Given the description of an element on the screen output the (x, y) to click on. 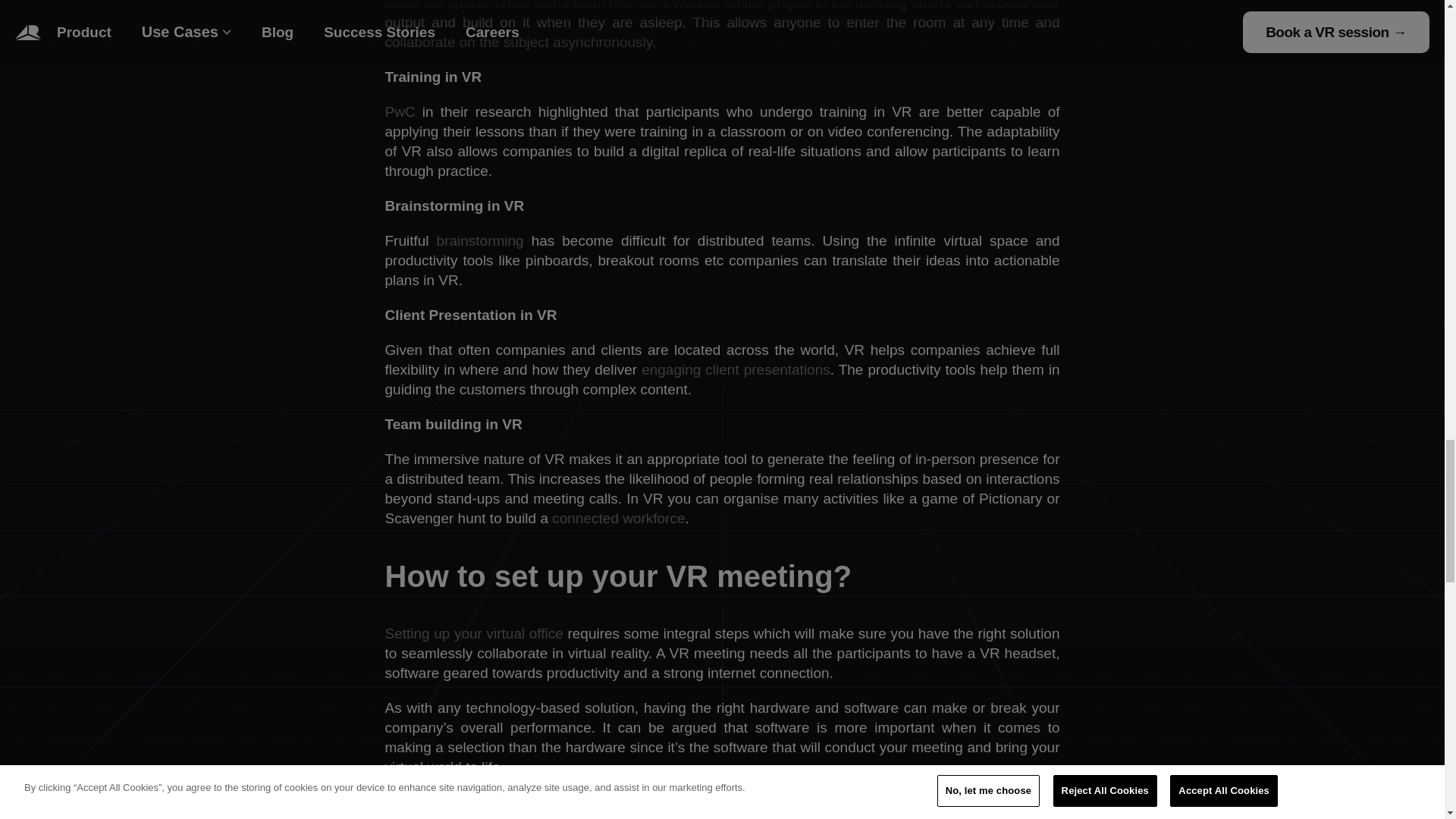
collaborate on the subject asynchronously. (520, 41)
Setting up your virtual office (474, 633)
connected workforce (617, 518)
brainstorming (480, 240)
engaging client presentations (735, 369)
PwC (399, 111)
